Given the description of an element on the screen output the (x, y) to click on. 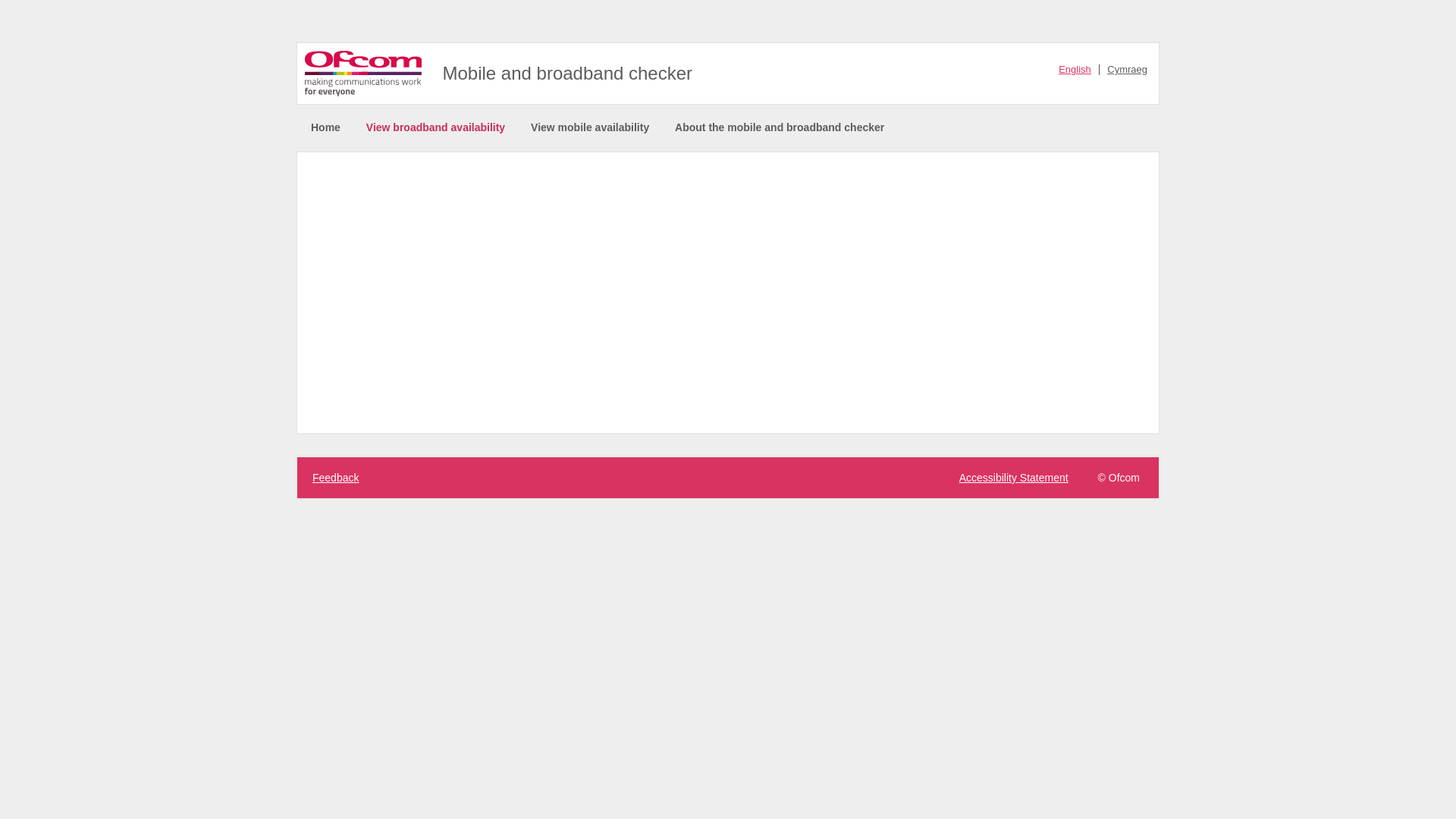
View broadband availability (435, 127)
About the mobile and broadband checker (779, 127)
View mobile availability (590, 127)
Home (325, 127)
